Given the description of an element on the screen output the (x, y) to click on. 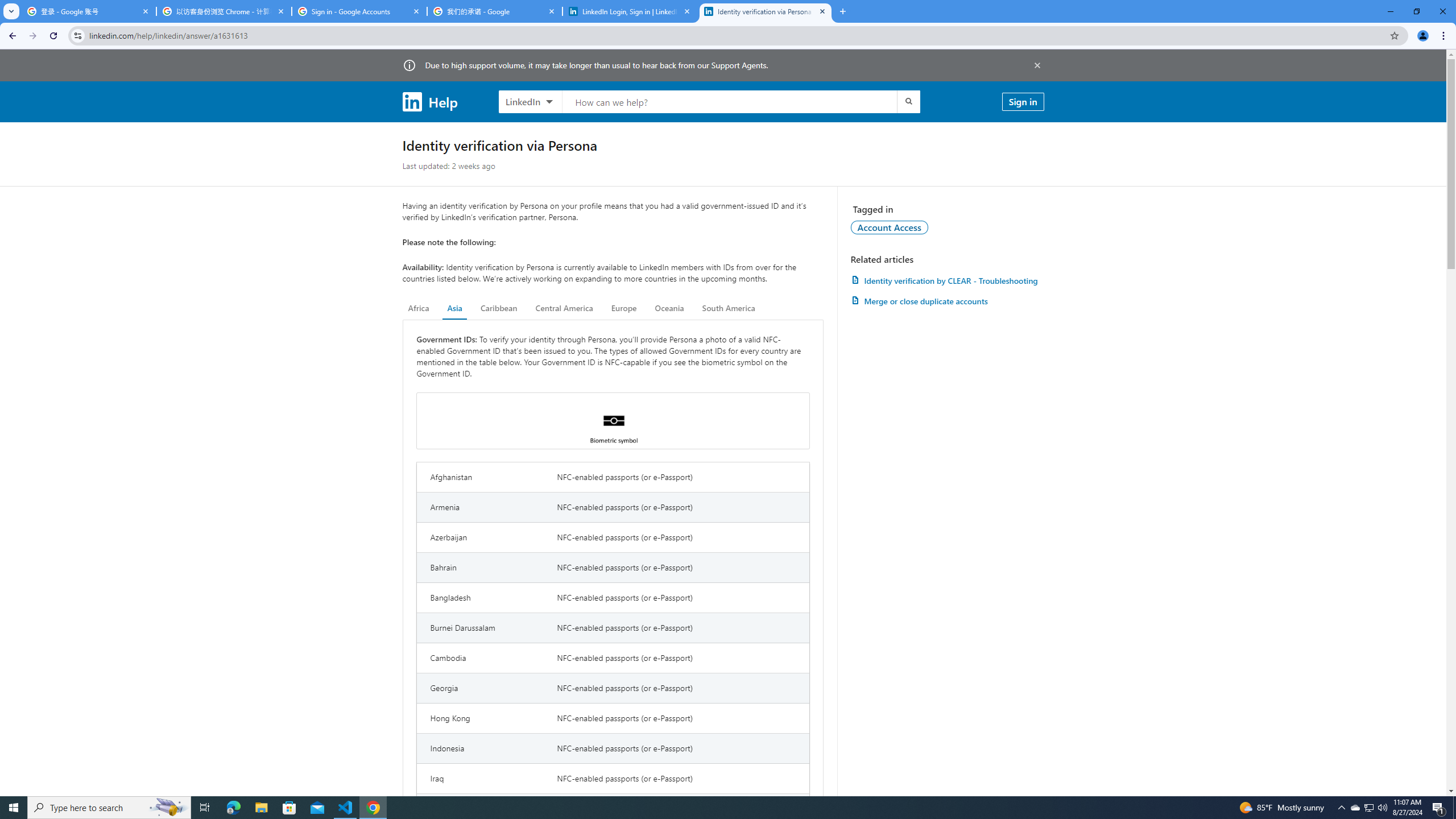
Submit search (908, 101)
Europe (623, 308)
Africa (418, 308)
LinkedIn Login, Sign in | LinkedIn (630, 11)
Caribbean (499, 308)
AutomationID: topic-link-a151002 (889, 227)
Biometric symbol (612, 420)
